Given the description of an element on the screen output the (x, y) to click on. 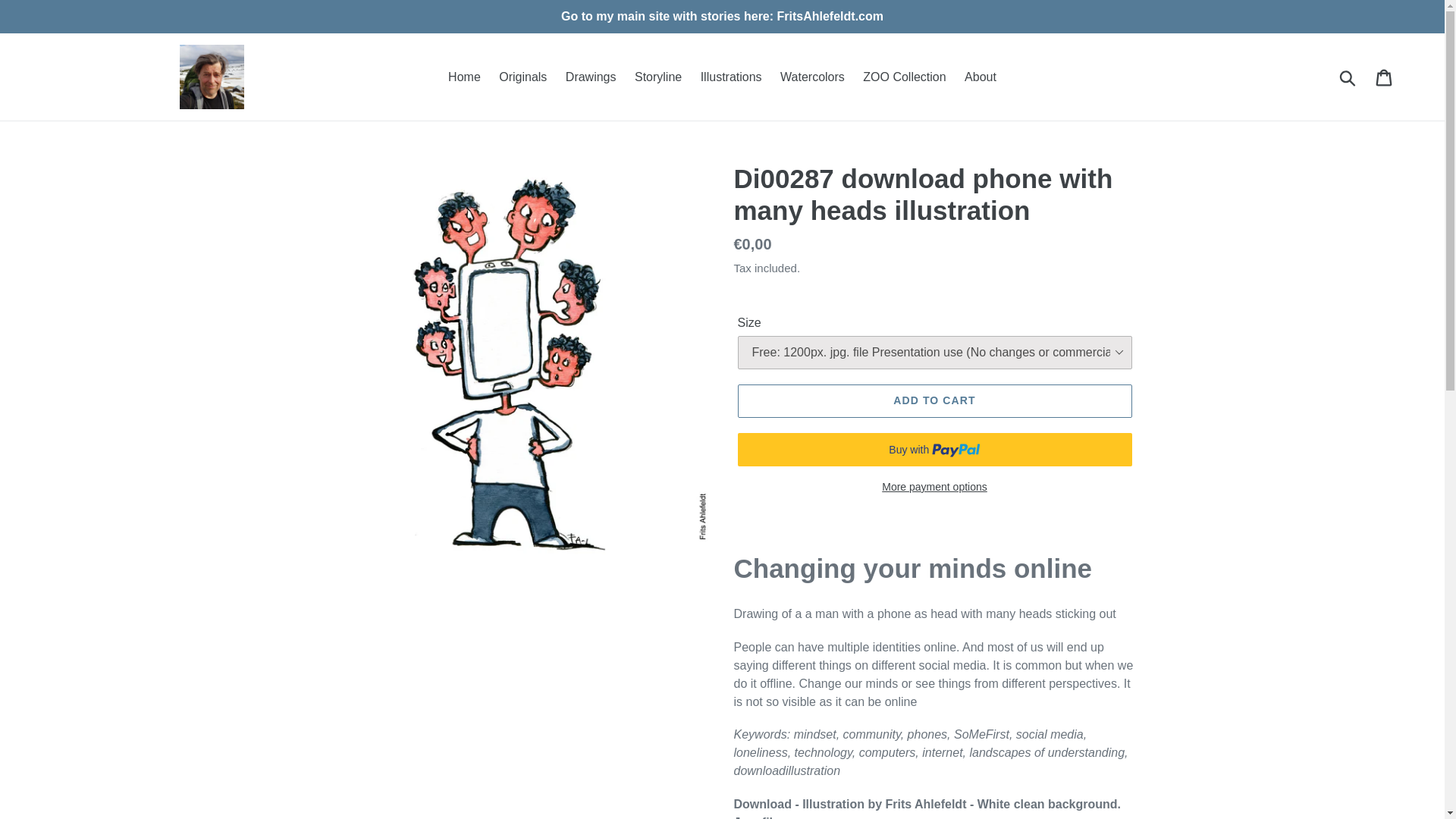
Storyline (657, 76)
ADD TO CART (933, 400)
About (980, 76)
Illustrations (731, 76)
Home (464, 76)
Drawings (590, 76)
Originals (523, 76)
Cart (1385, 76)
Submit (1348, 76)
ZOO Collection (904, 76)
Watercolors (812, 76)
More payment options (933, 487)
